Given the description of an element on the screen output the (x, y) to click on. 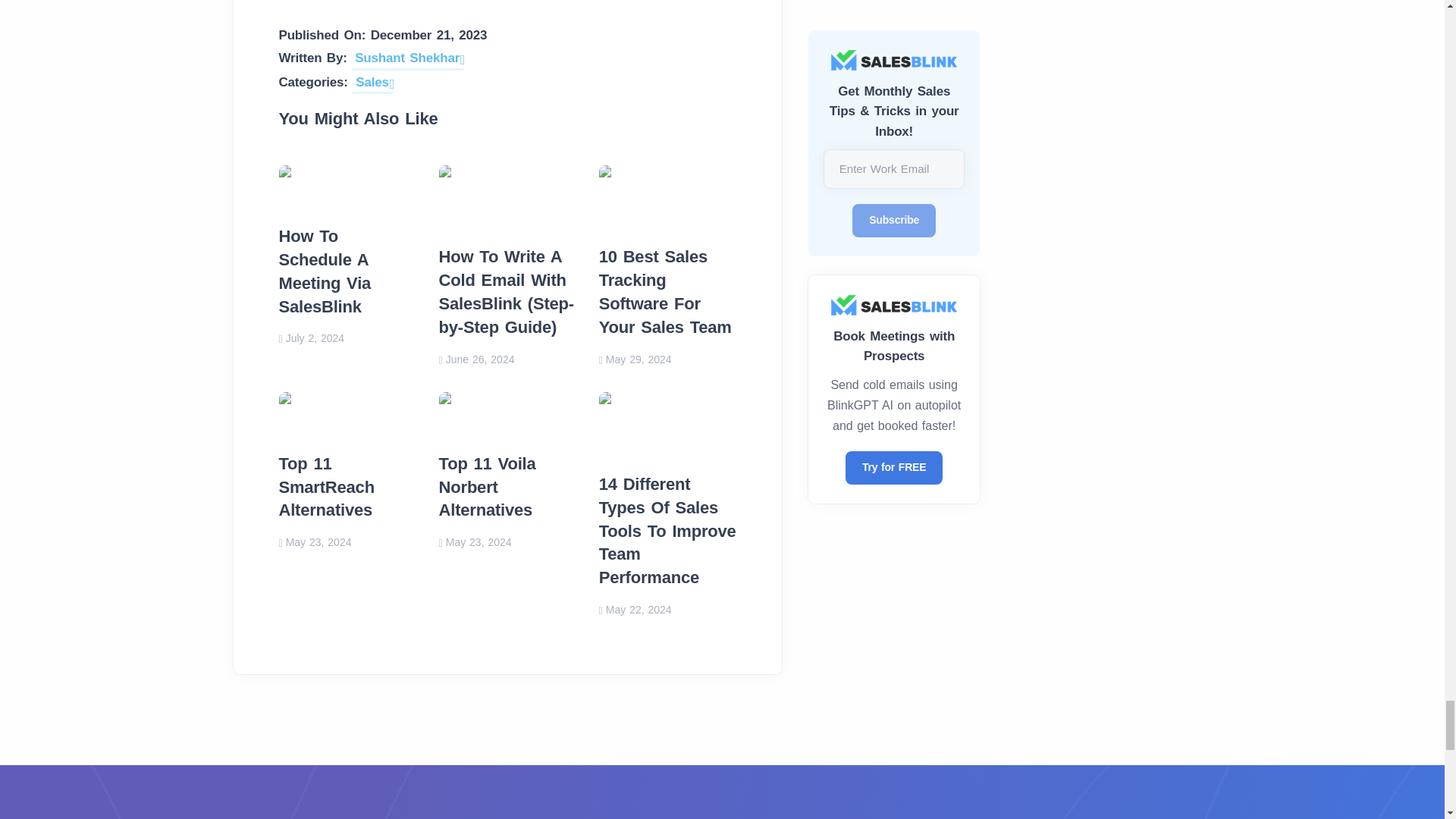
Top 11 SmartReach Alternatives (347, 412)
Top 11 Voila Norbert Alternatives (507, 412)
How To Schedule A Meeting Via SalesBlink (347, 185)
10 Best Sales Tracking Software For Your Sales Team (667, 196)
